Given the description of an element on the screen output the (x, y) to click on. 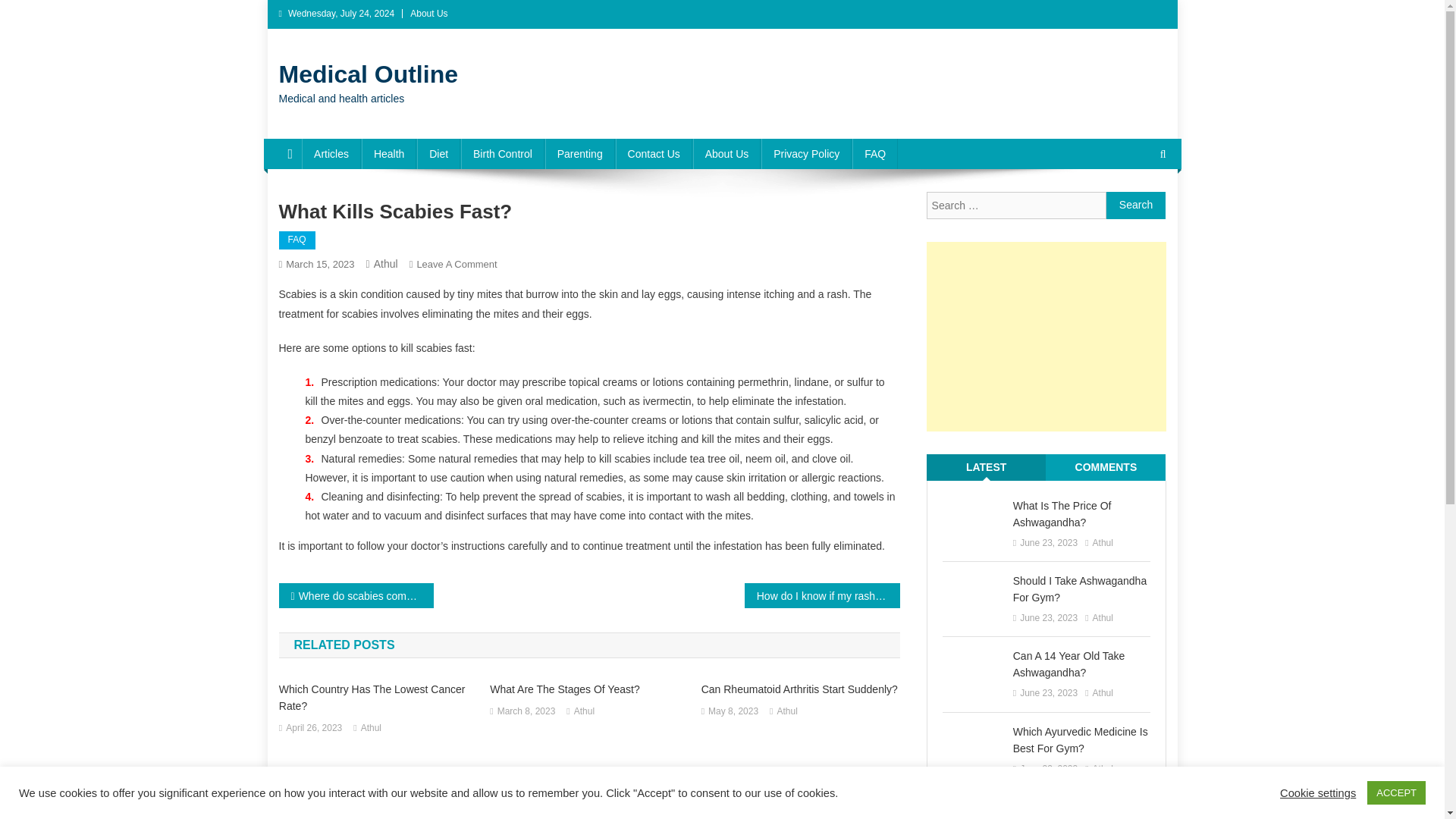
March 8, 2023 (526, 711)
COMMENTS (1105, 466)
Birth Control (502, 153)
Search (1133, 204)
April 26, 2023 (313, 728)
What Is The Price Of Ashwagandha? (1081, 513)
Search (1136, 205)
Where do scabies come from? (356, 595)
LATEST (986, 466)
Contact Us (654, 153)
Which Country Has The Lowest Cancer Rate? (378, 697)
What Are The Stages Of Yeast? (456, 264)
Medical Outline (588, 688)
Search (368, 73)
